Given the description of an element on the screen output the (x, y) to click on. 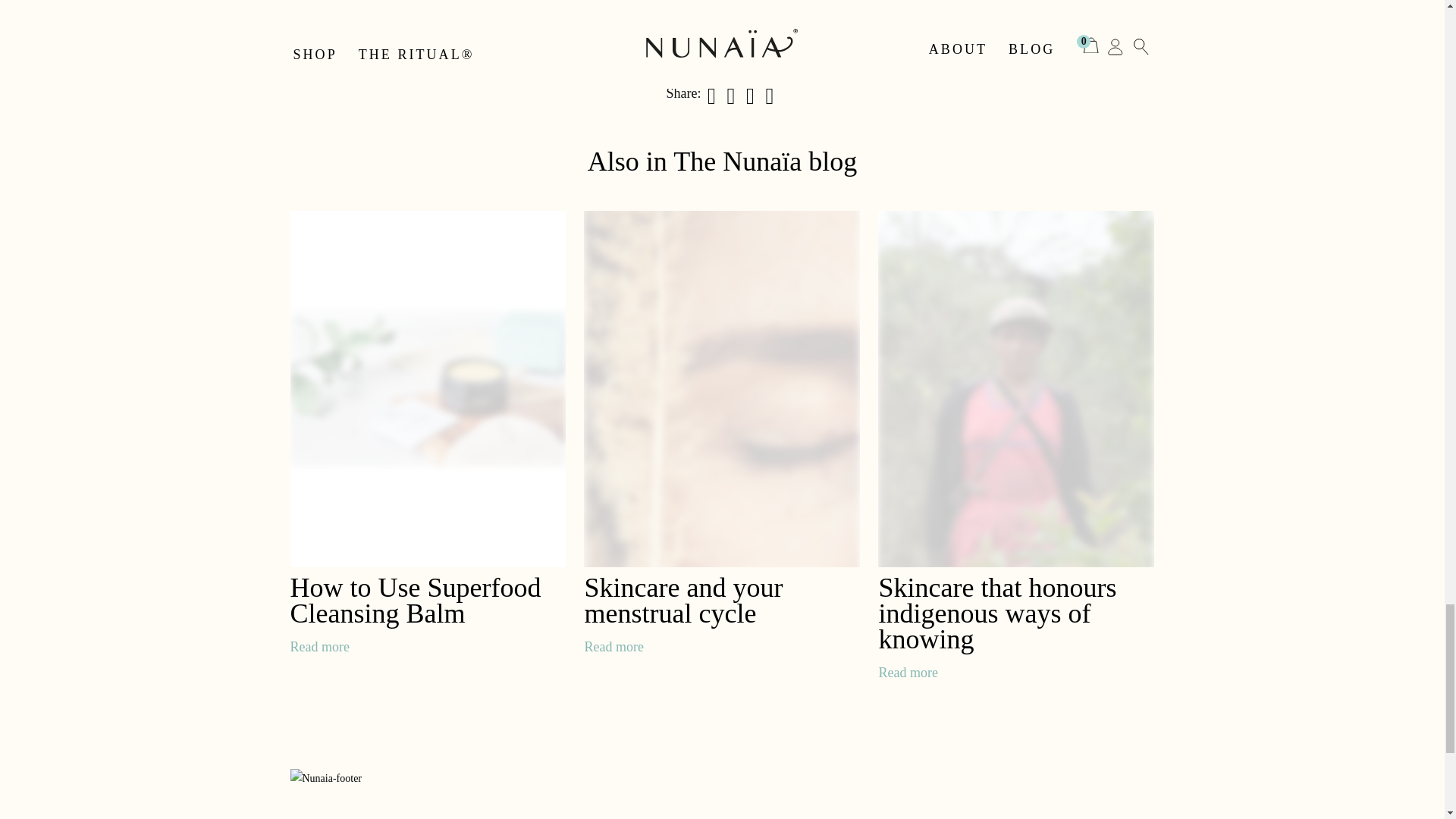
How to Use Superfood Cleansing Balm (414, 600)
How to Use Superfood Cleansing Balm (319, 646)
Nunaia Nourishing Radiance Serum (722, 3)
